Given the description of an element on the screen output the (x, y) to click on. 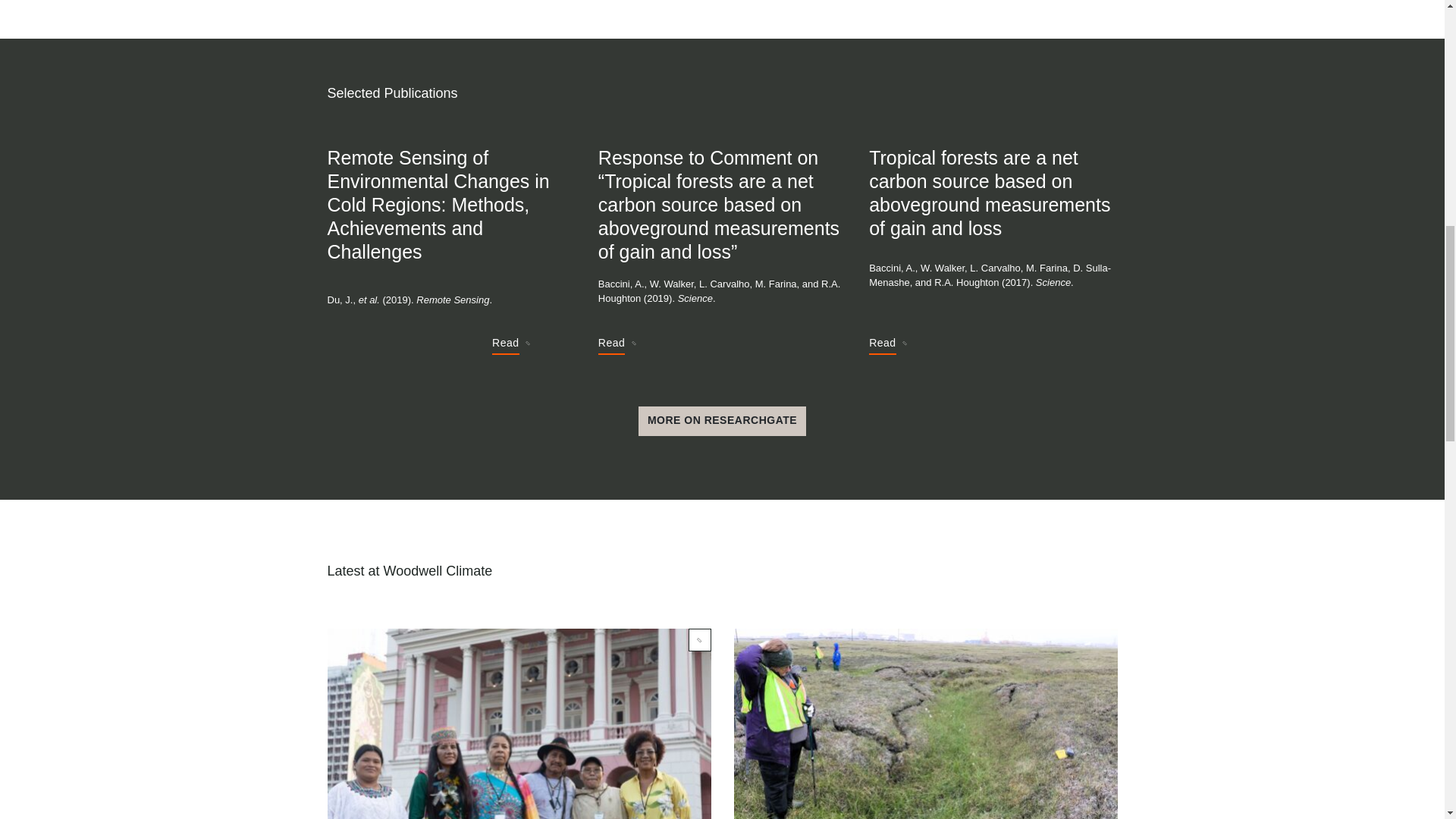
Read (510, 345)
MORE ON RESEARCHGATE (722, 421)
Read (887, 345)
Read (616, 345)
